Given the description of an element on the screen output the (x, y) to click on. 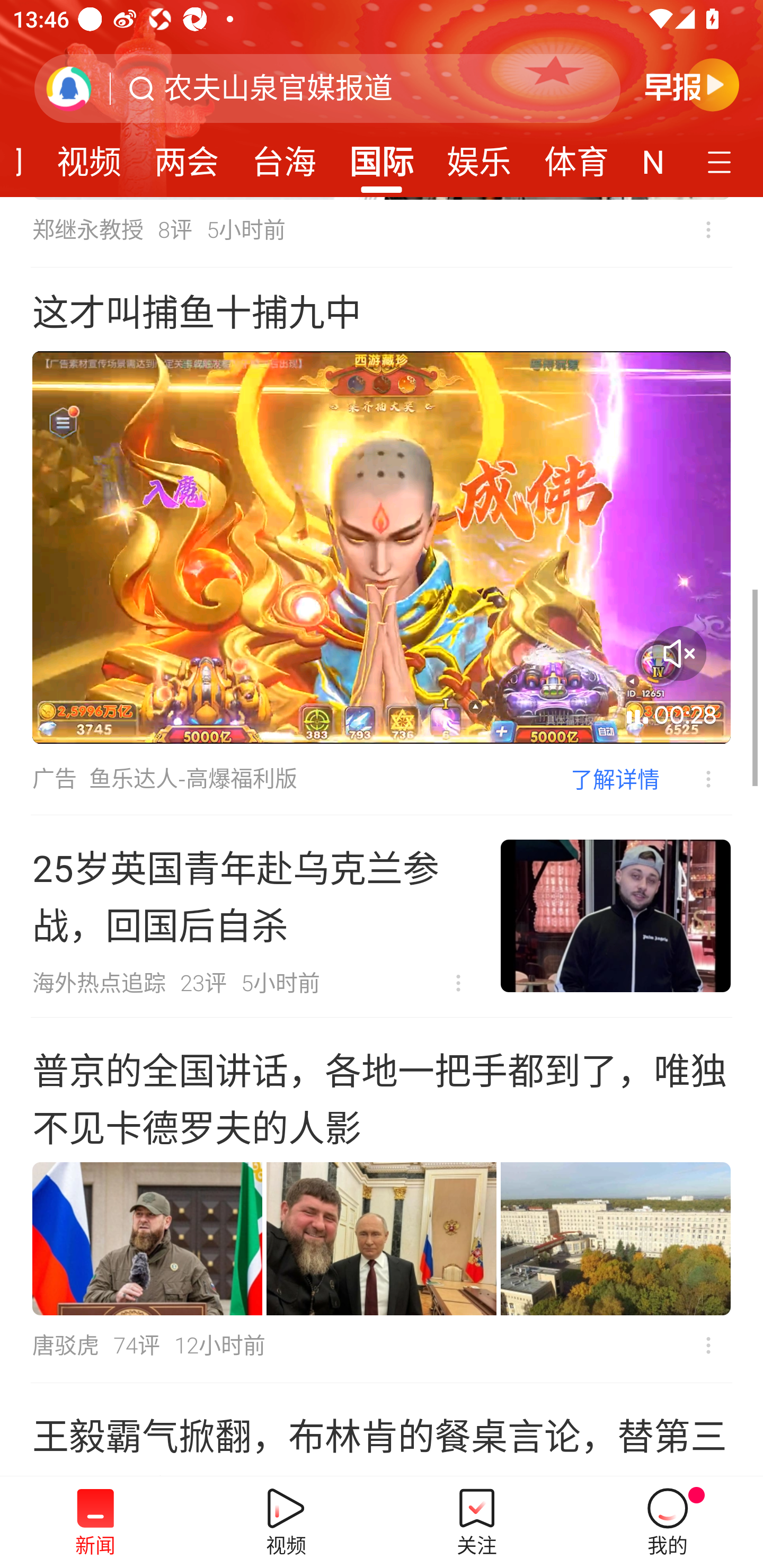
早晚报 (691, 84)
刷新 (68, 88)
农夫山泉官媒报道 (278, 88)
视频 (89, 155)
两会 (186, 155)
台海 (283, 155)
国际 (381, 155)
娱乐 (478, 155)
体育 (575, 155)
 定制频道 (721, 160)
 不感兴趣 (707, 229)
这才叫捕鱼十捕九中 00:28 音量开关 广告 鱼乐达人-高爆福利版 了解详情  不感兴趣 (381, 541)
00:28 音量开关 (381, 547)
音量开关 (678, 652)
 不感兴趣 (694, 779)
了解详情 (614, 778)
广告 (54, 778)
鱼乐达人-高爆福利版 (193, 778)
25岁英国青年赴乌克兰参战，回国后自杀 海外热点追踪 23评 5小时前  不感兴趣 (381, 916)
 不感兴趣 (458, 983)
 不感兴趣 (707, 1345)
王毅霸气掀翻，布林肯的餐桌言论，替第三世界国家，出了一口恶气 (381, 1429)
